Given the description of an element on the screen output the (x, y) to click on. 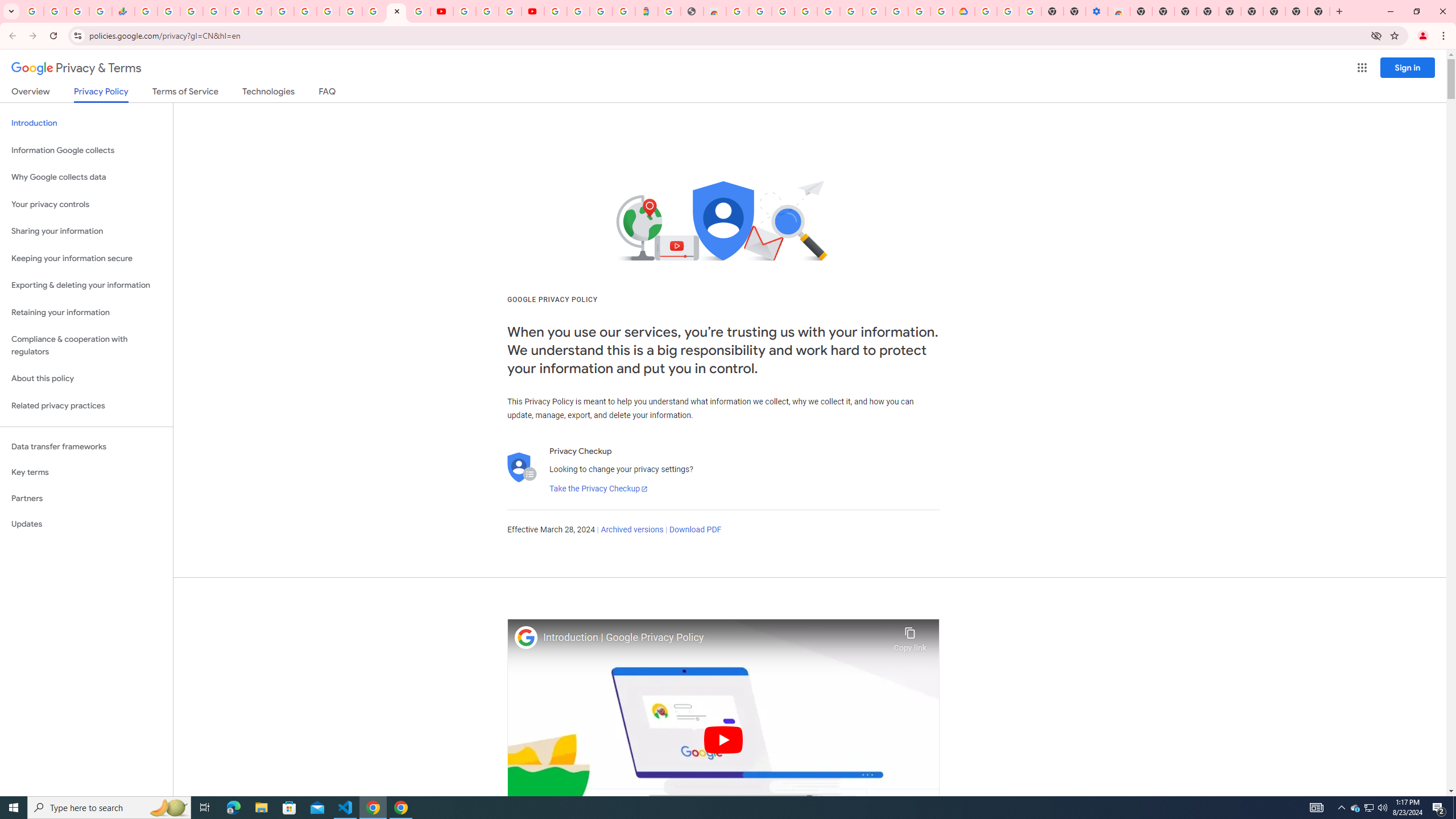
Google Account Help (486, 11)
System (6, 6)
Why Google collects data (86, 176)
